Given the description of an element on the screen output the (x, y) to click on. 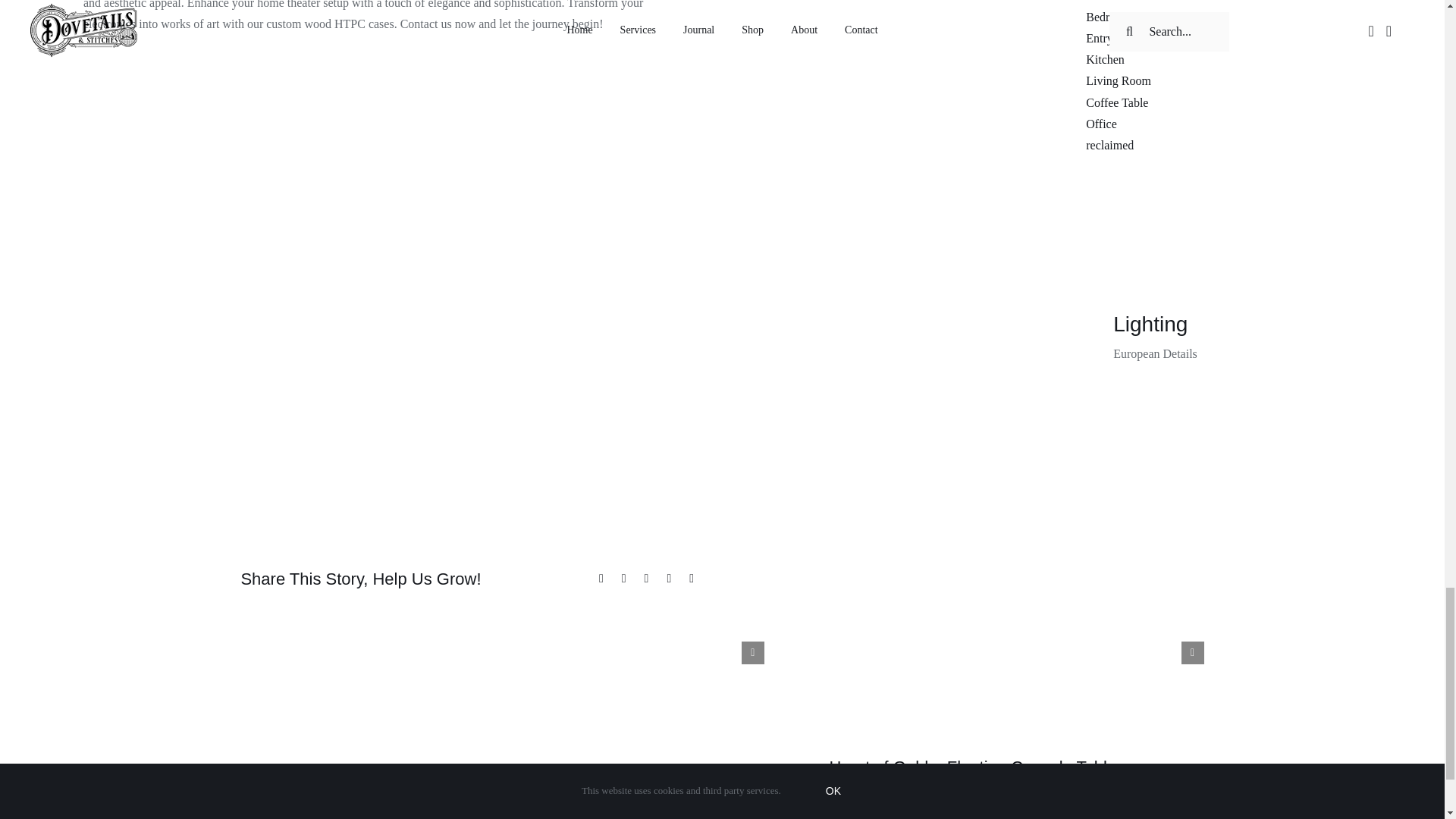
Lighting Products (1253, 337)
